Given the description of an element on the screen output the (x, y) to click on. 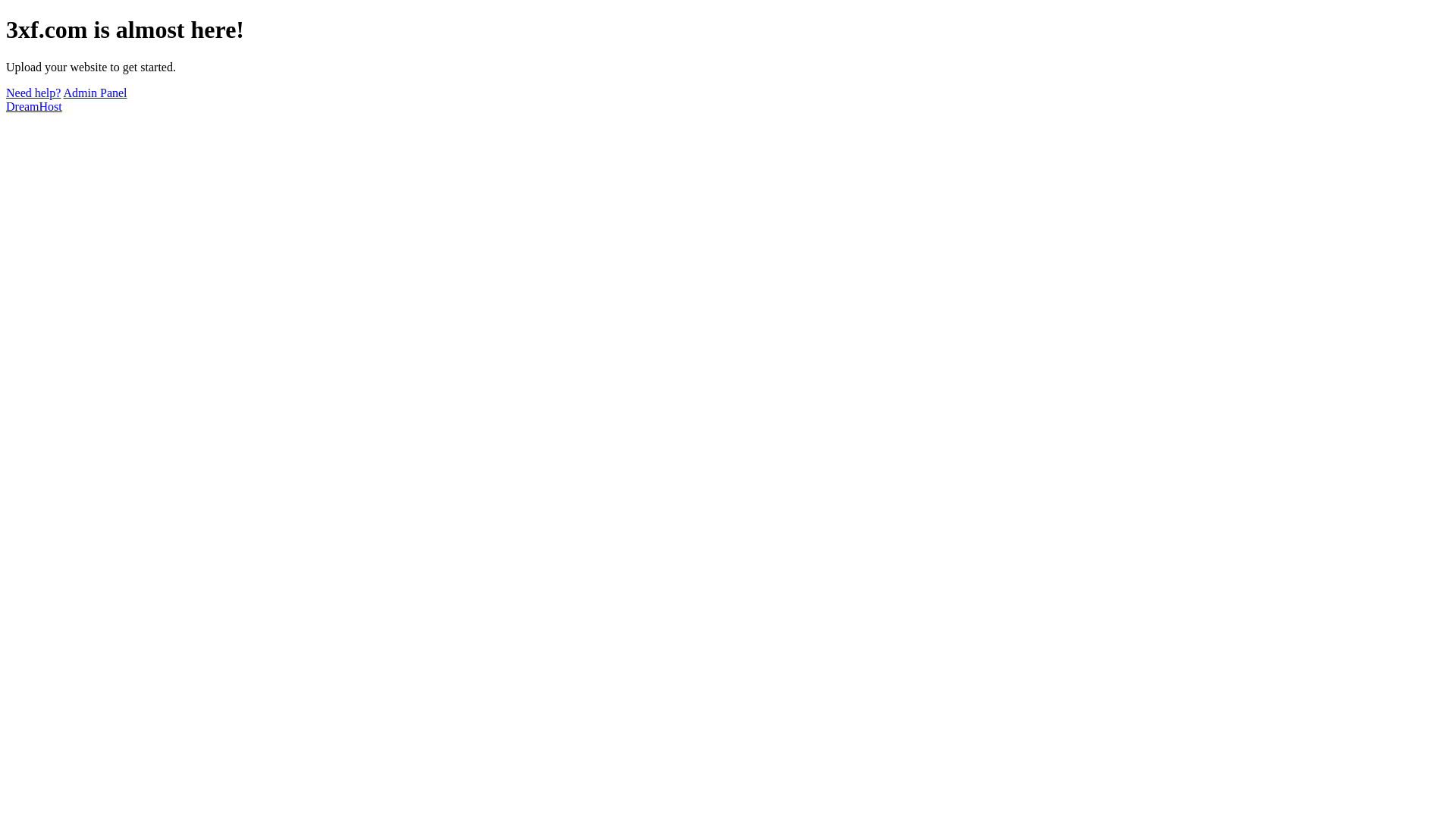
DreamHost Element type: text (34, 106)
Admin Panel Element type: text (95, 92)
Need help? Element type: text (33, 92)
